Given the description of an element on the screen output the (x, y) to click on. 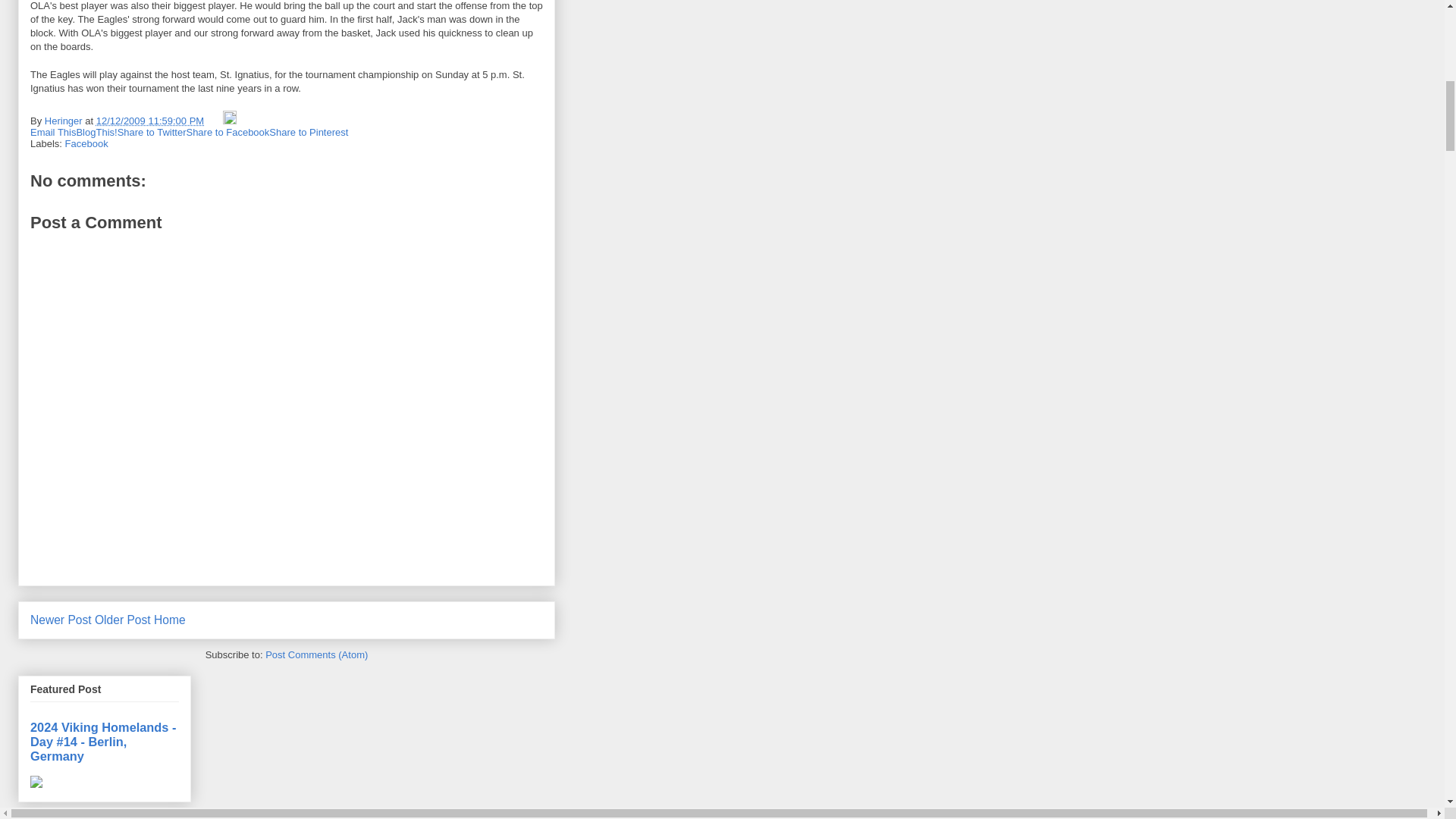
permanent link (149, 120)
BlogThis! (95, 132)
Share to Pinterest (308, 132)
Share to Pinterest (308, 132)
Older Post (122, 619)
Email This (52, 132)
Share to Twitter (151, 132)
Heringer (64, 120)
Share to Facebook (227, 132)
Share to Twitter (151, 132)
Share to Facebook (227, 132)
Edit Post (228, 120)
BlogThis! (95, 132)
Email Post (215, 120)
author profile (64, 120)
